Given the description of an element on the screen output the (x, y) to click on. 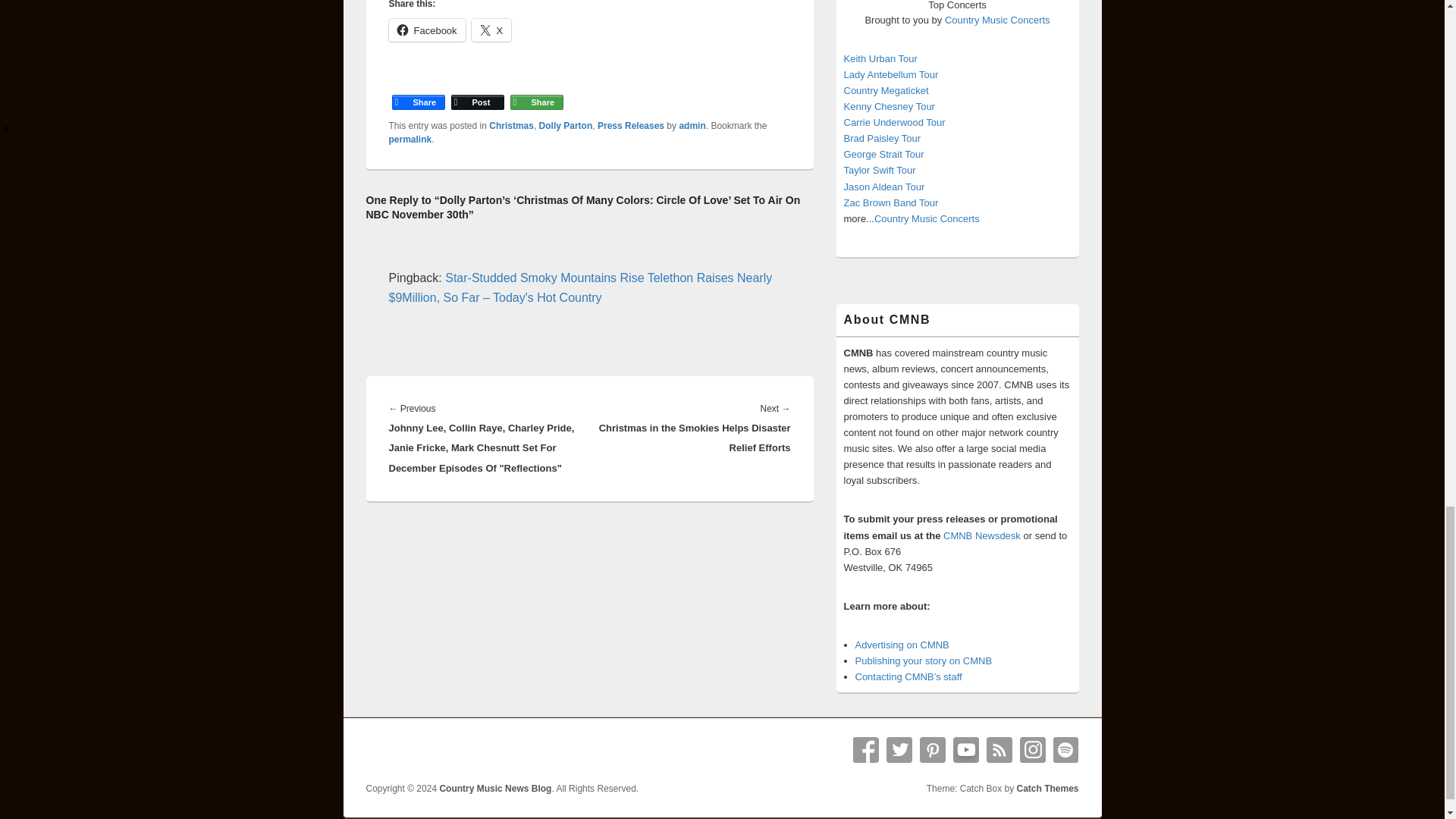
X (491, 29)
admin (691, 125)
 Keith Urban Tour (880, 58)
Press Releases (629, 125)
Dolly Parton (565, 125)
Facebook (426, 29)
Click to share on X (491, 29)
Christmas (511, 125)
Facebook (417, 89)
permalink (409, 139)
Click to share on Facebook (426, 29)
Country Music Concerts (996, 19)
More Options (536, 89)
